Given the description of an element on the screen output the (x, y) to click on. 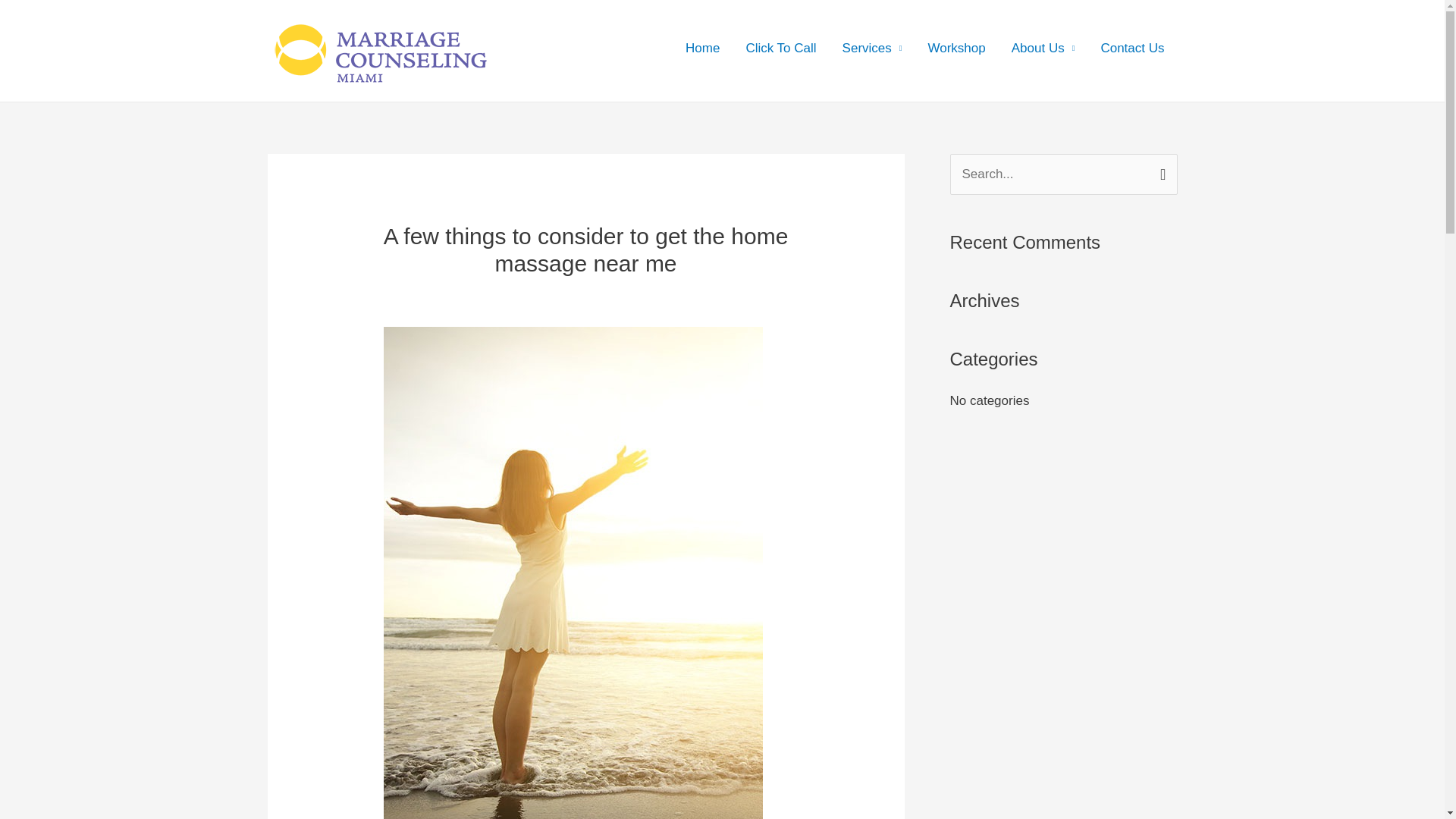
Contact Us (1131, 50)
Search (1159, 169)
Services (872, 50)
Home (702, 50)
Click To Call (780, 50)
Search (1159, 169)
Search (1159, 169)
About Us (1042, 50)
Workshop (956, 50)
